Given the description of an element on the screen output the (x, y) to click on. 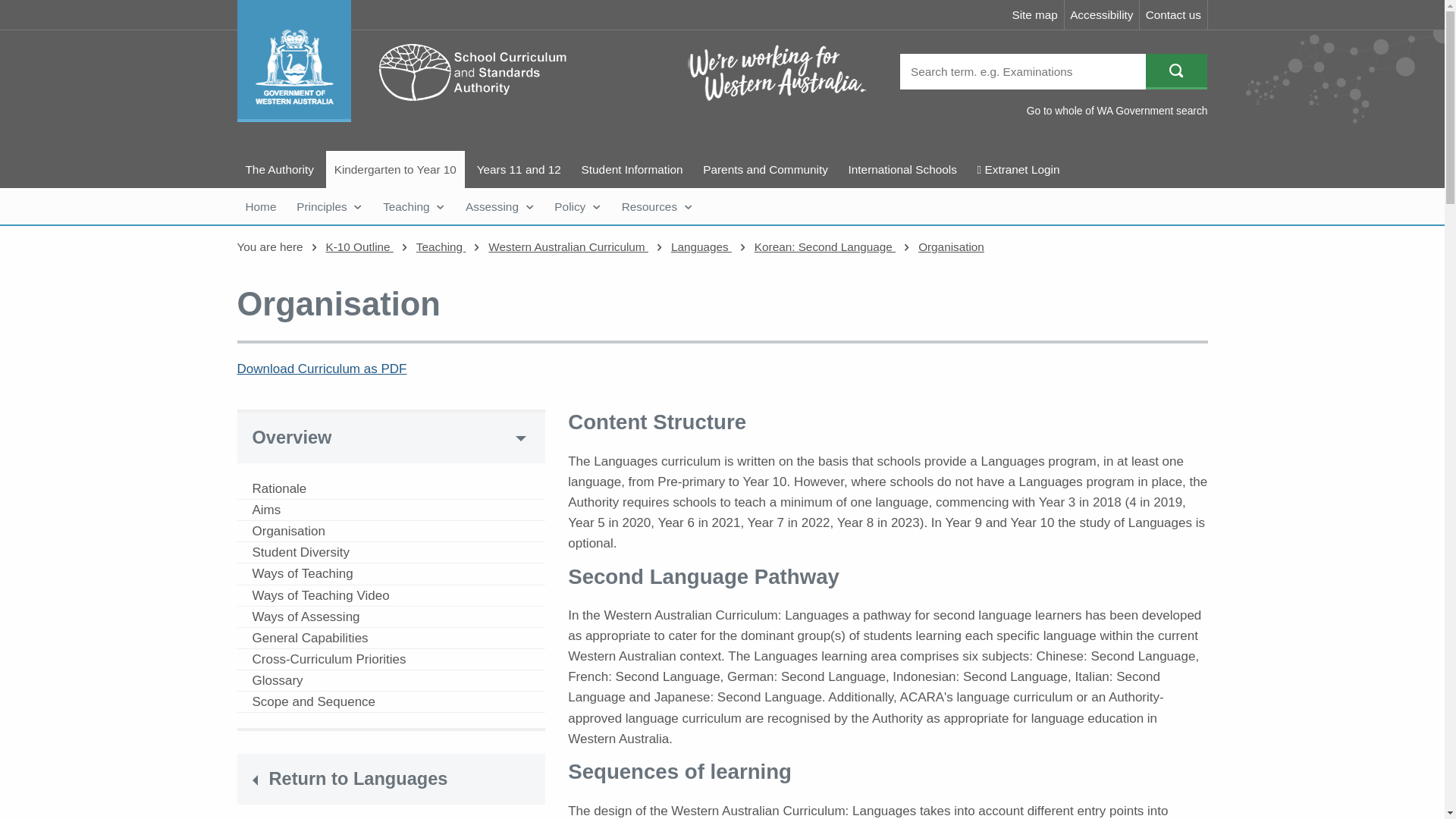
Go to whole of WA Government search (1117, 110)
International Schools (902, 169)
Student Information (632, 169)
Years 11 and 12 (518, 169)
Parents and Community (764, 169)
Teaching (413, 206)
Teaching (413, 206)
Accessibility (1102, 14)
Contact us (1173, 14)
The Authority (278, 169)
Principles (329, 206)
Home (259, 206)
Principles (329, 206)
WA Government search (1117, 110)
Search Field (1022, 71)
